Given the description of an element on the screen output the (x, y) to click on. 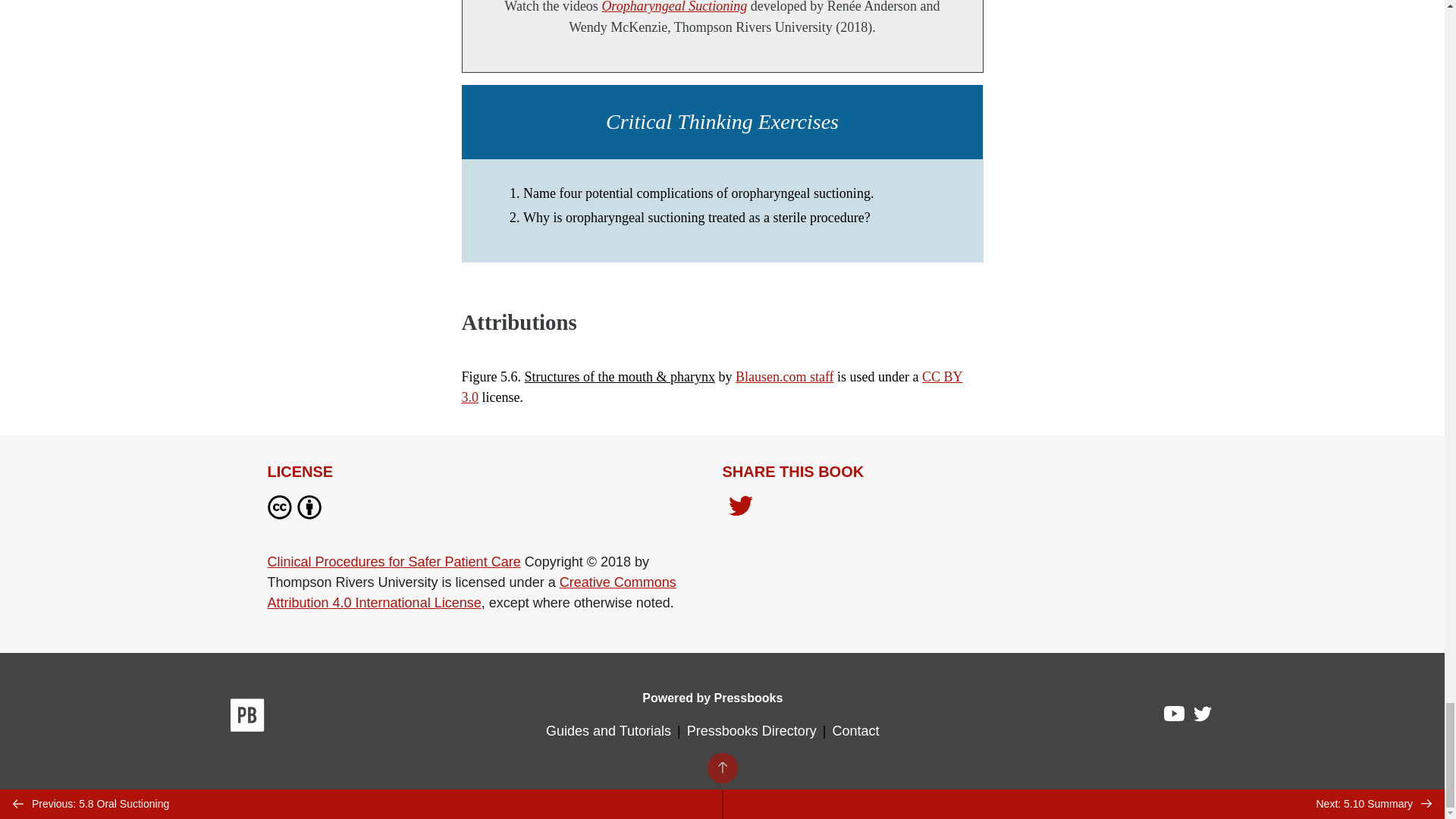
Pressbooks Directory (751, 730)
Powered by Pressbooks (712, 697)
Share on Twitter (740, 509)
Oropharyngeal Suctioning (673, 6)
Creative Commons Attribution 4.0 International License (470, 592)
Guides and Tutorials (608, 730)
Contact (856, 730)
Clinical Procedures for Safer Patient Care (392, 561)
Pressbooks on YouTube (1174, 716)
Share on Twitter (740, 507)
